Given the description of an element on the screen output the (x, y) to click on. 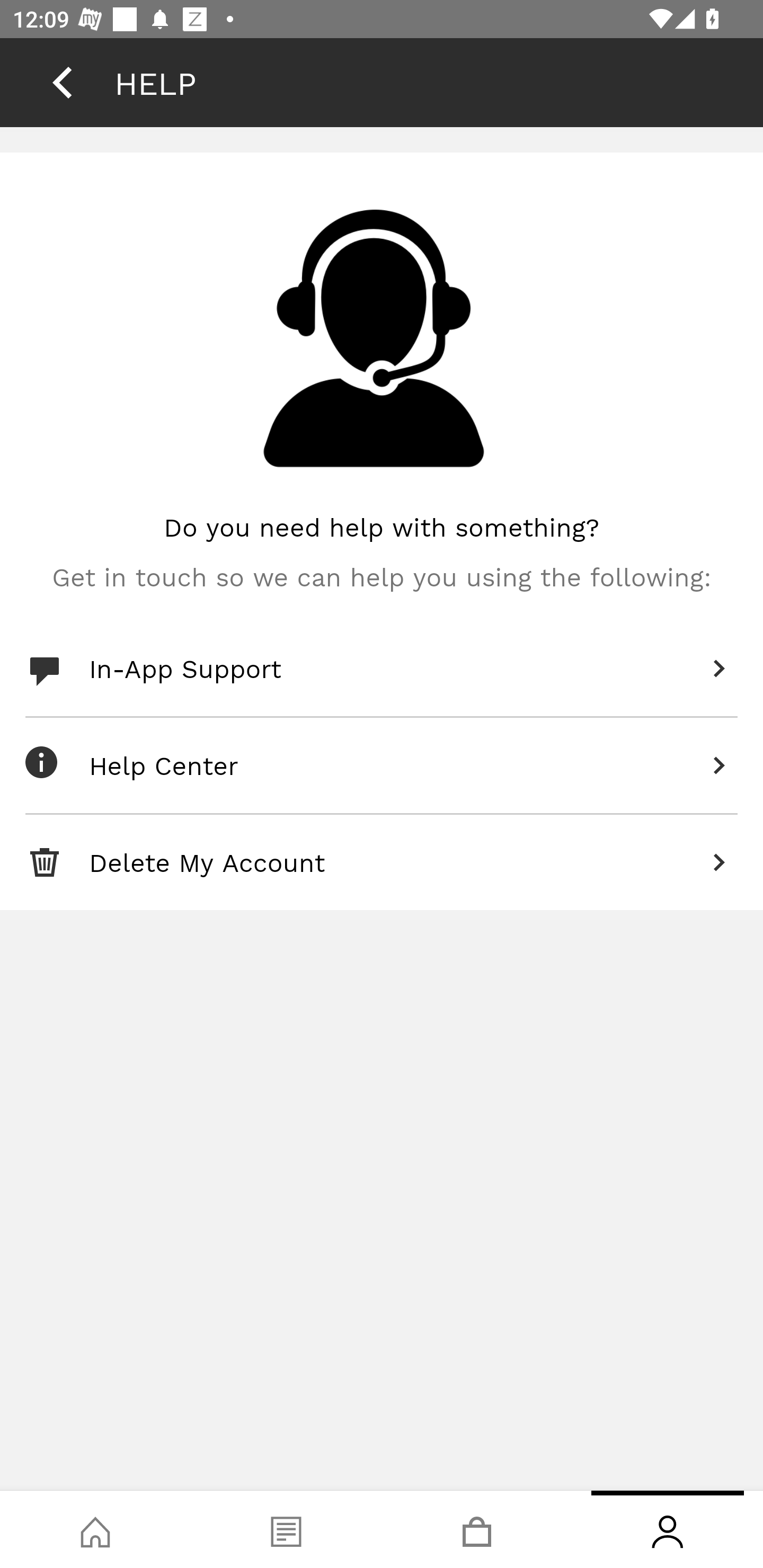
ACCOUNT, back (61, 82)
In-App Support (381, 668)
Help Center (381, 765)
Delete My Account (381, 862)
Shop, tab, 1 of 4 (95, 1529)
Blog, tab, 2 of 4 (285, 1529)
Basket, tab, 3 of 4 (476, 1529)
Account, tab, 4 of 4 (667, 1529)
